Given the description of an element on the screen output the (x, y) to click on. 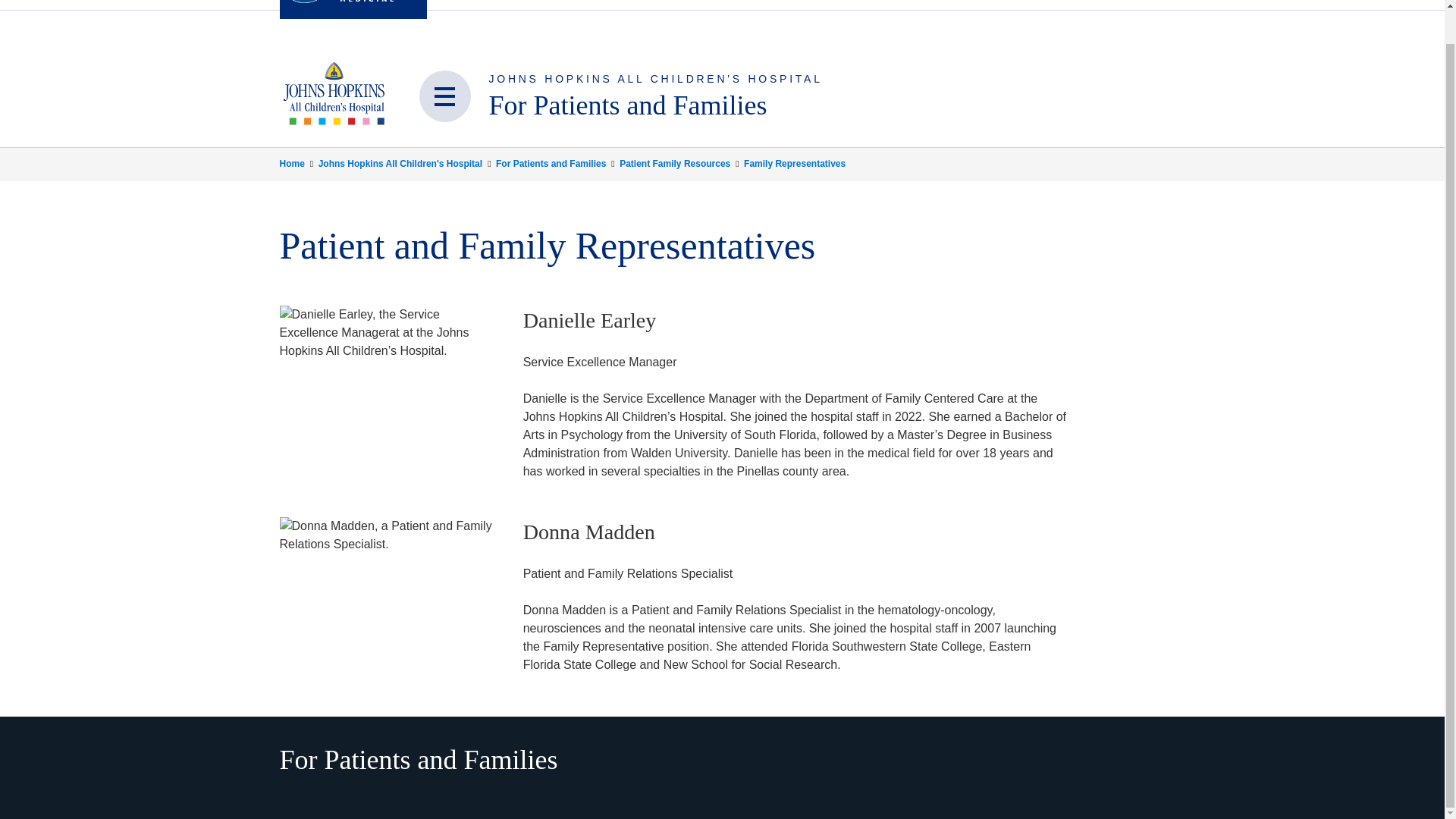
Close Main Menu (444, 96)
COVID-19 (1033, 4)
JOHNS HOPKINS ALL CHILDREN'S HOSPITAL (654, 78)
For Patients and Families (627, 105)
SEARCH (461, 4)
